Given the description of an element on the screen output the (x, y) to click on. 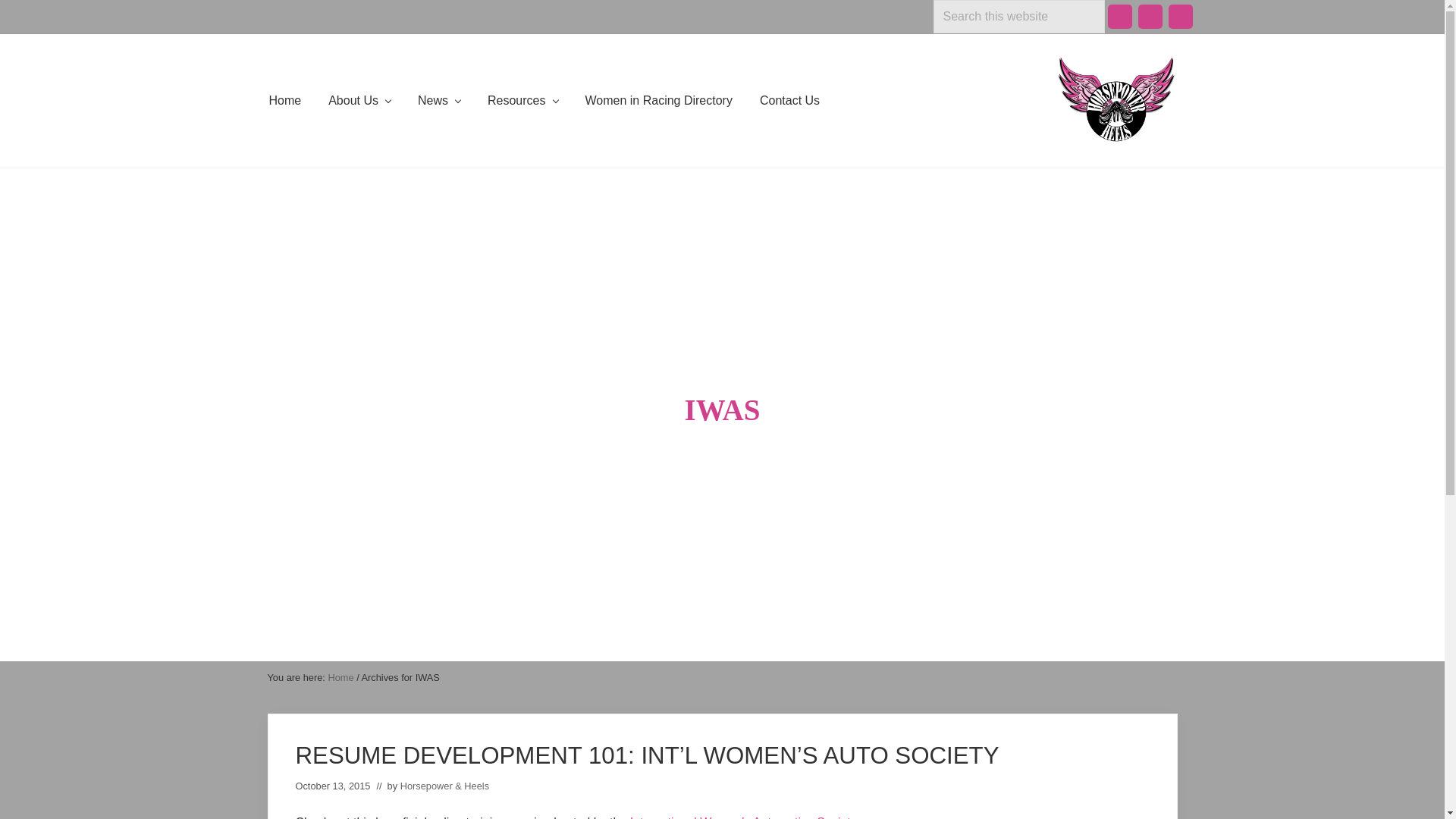
LinkedIn (1149, 16)
About Us (359, 100)
RSS (1180, 16)
Home (284, 100)
RSS (1179, 16)
Facebook (1119, 16)
LinkedIn (1149, 16)
Facebook (1118, 16)
